Given the description of an element on the screen output the (x, y) to click on. 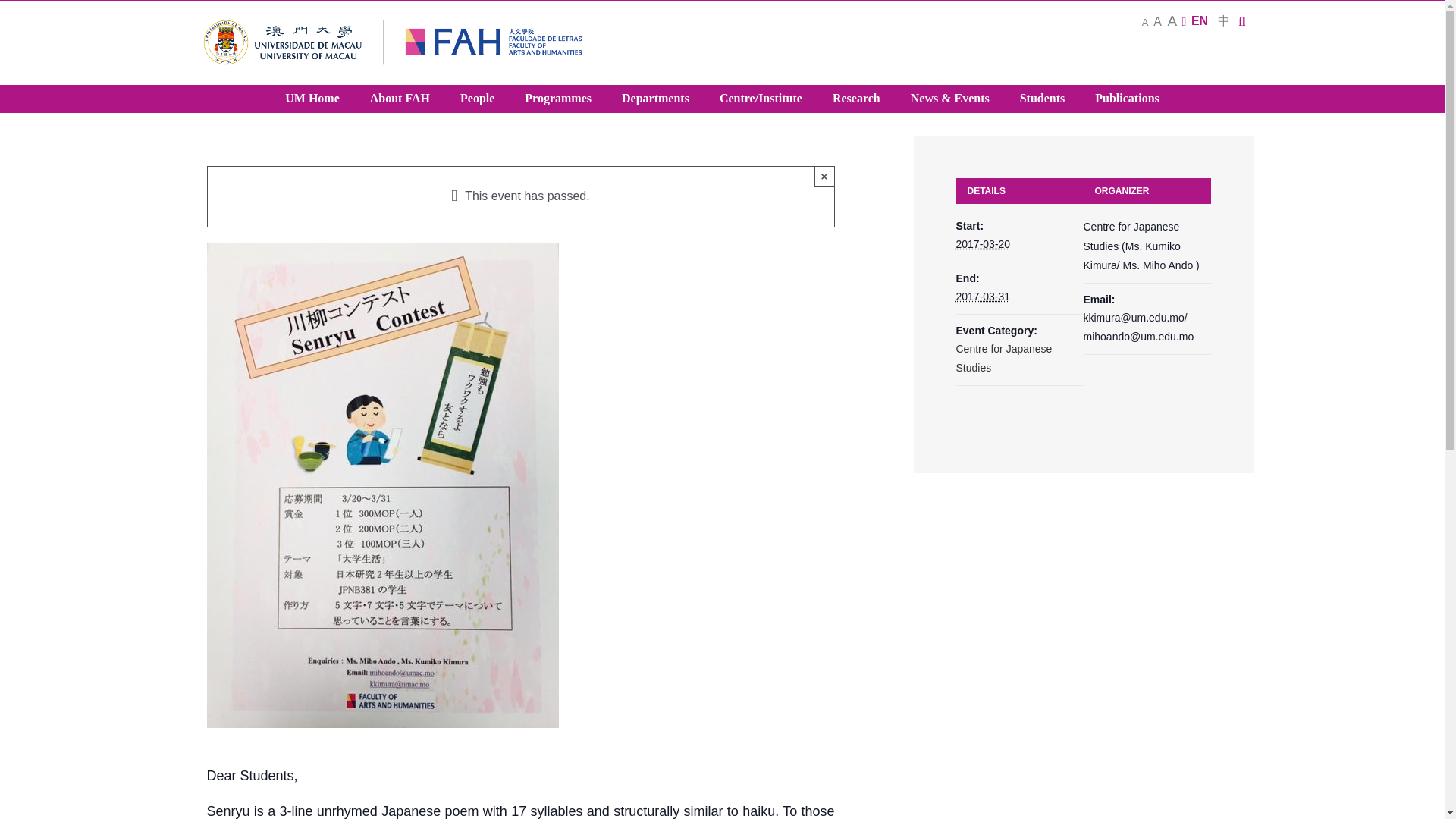
2017-03-31 (982, 296)
2017-03-20 (982, 244)
Programmes (558, 98)
UM Home (312, 98)
About FAH (400, 98)
Departments (655, 98)
People (477, 98)
EN (1199, 20)
